Given the description of an element on the screen output the (x, y) to click on. 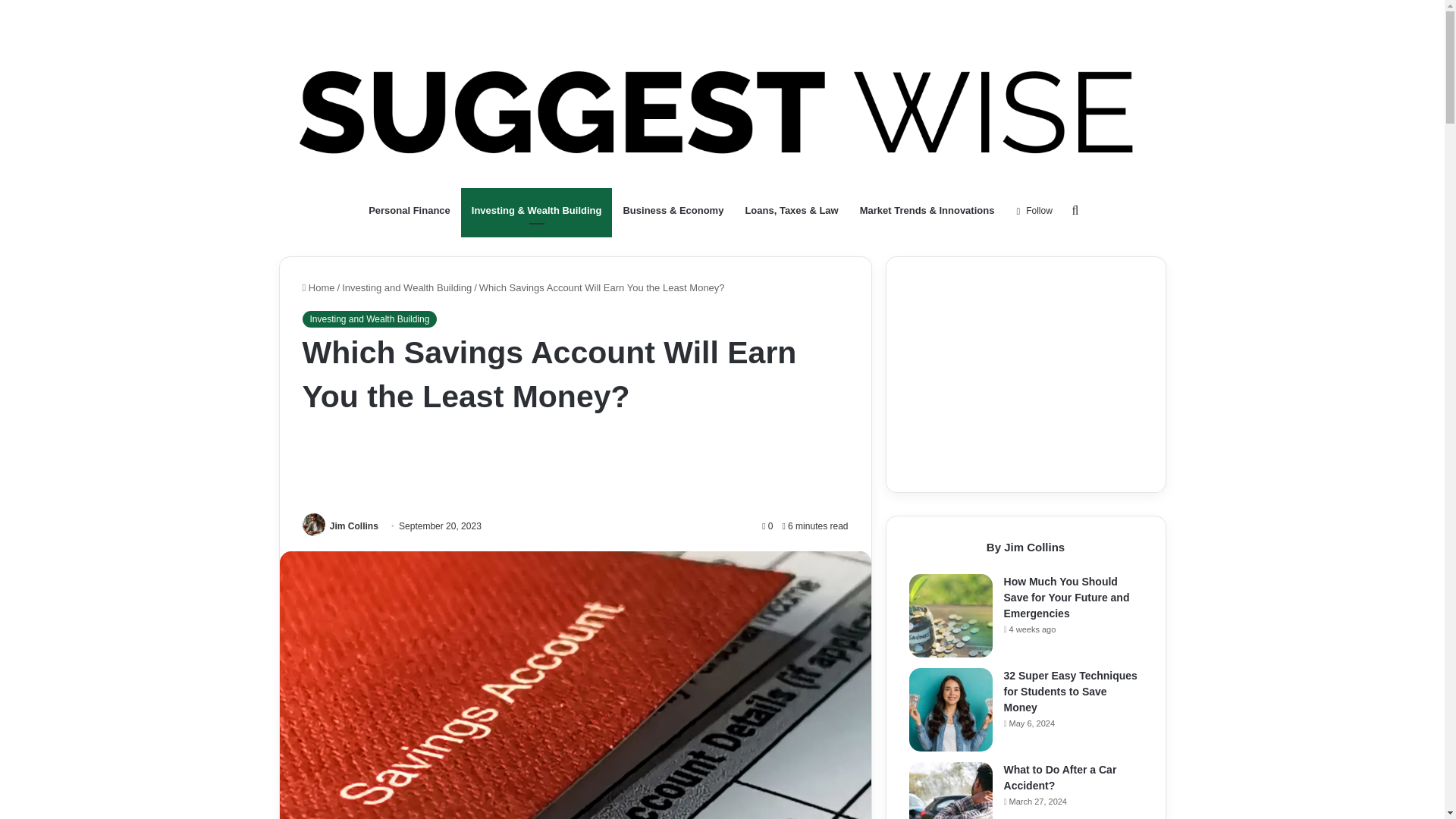
Home (317, 287)
Jim Collins (354, 525)
Suggest Wise (722, 112)
Personal Finance (409, 210)
Investing and Wealth Building (406, 287)
Investing and Wealth Building (368, 319)
Jim Collins (354, 525)
Follow (1033, 210)
